Given the description of an element on the screen output the (x, y) to click on. 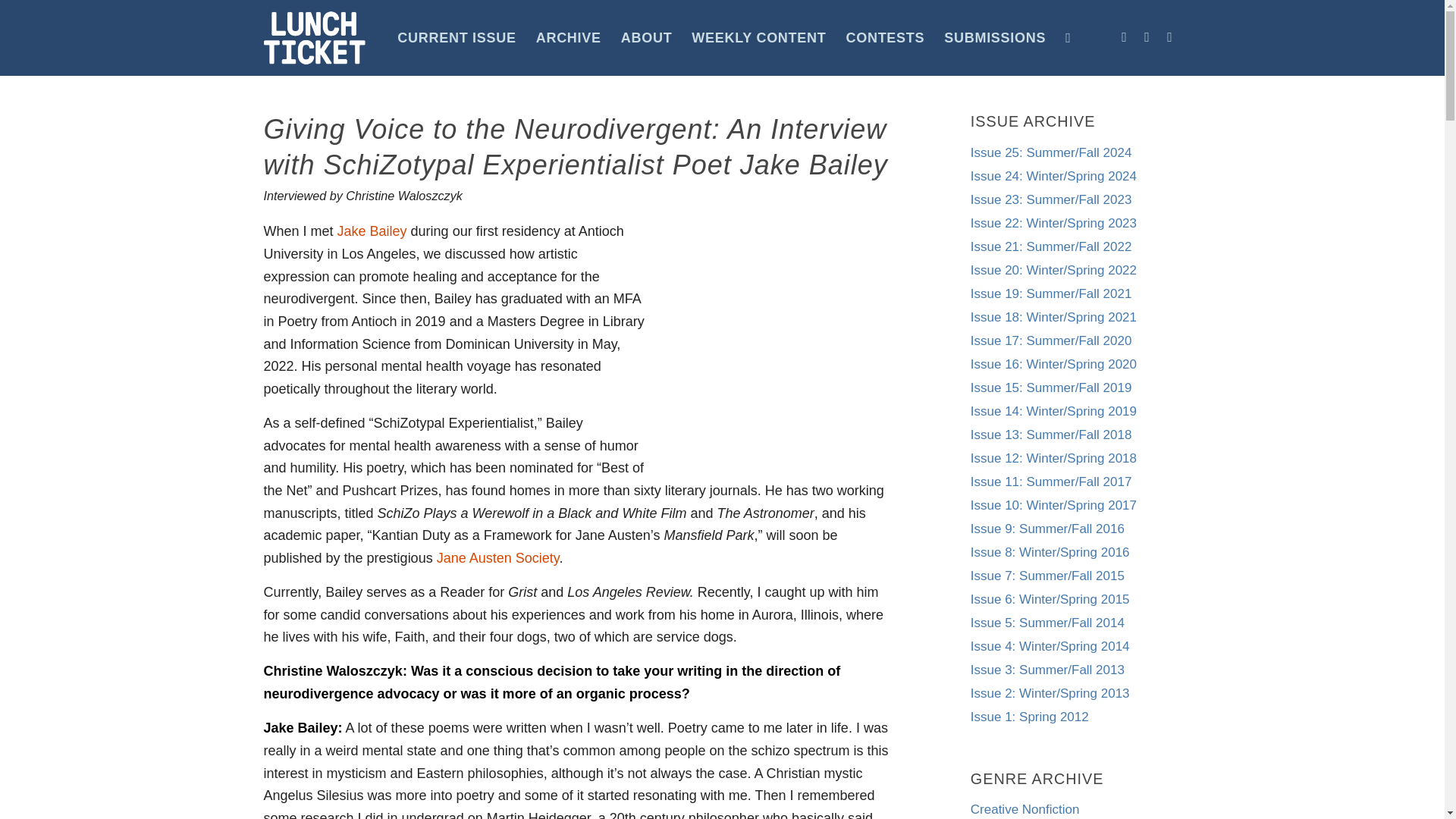
Facebook (1124, 36)
Instagram (1146, 36)
ARCHIVE (568, 38)
lunch ticket logo white text-only (314, 38)
CURRENT ISSUE (456, 38)
X (1169, 36)
